Given the description of an element on the screen output the (x, y) to click on. 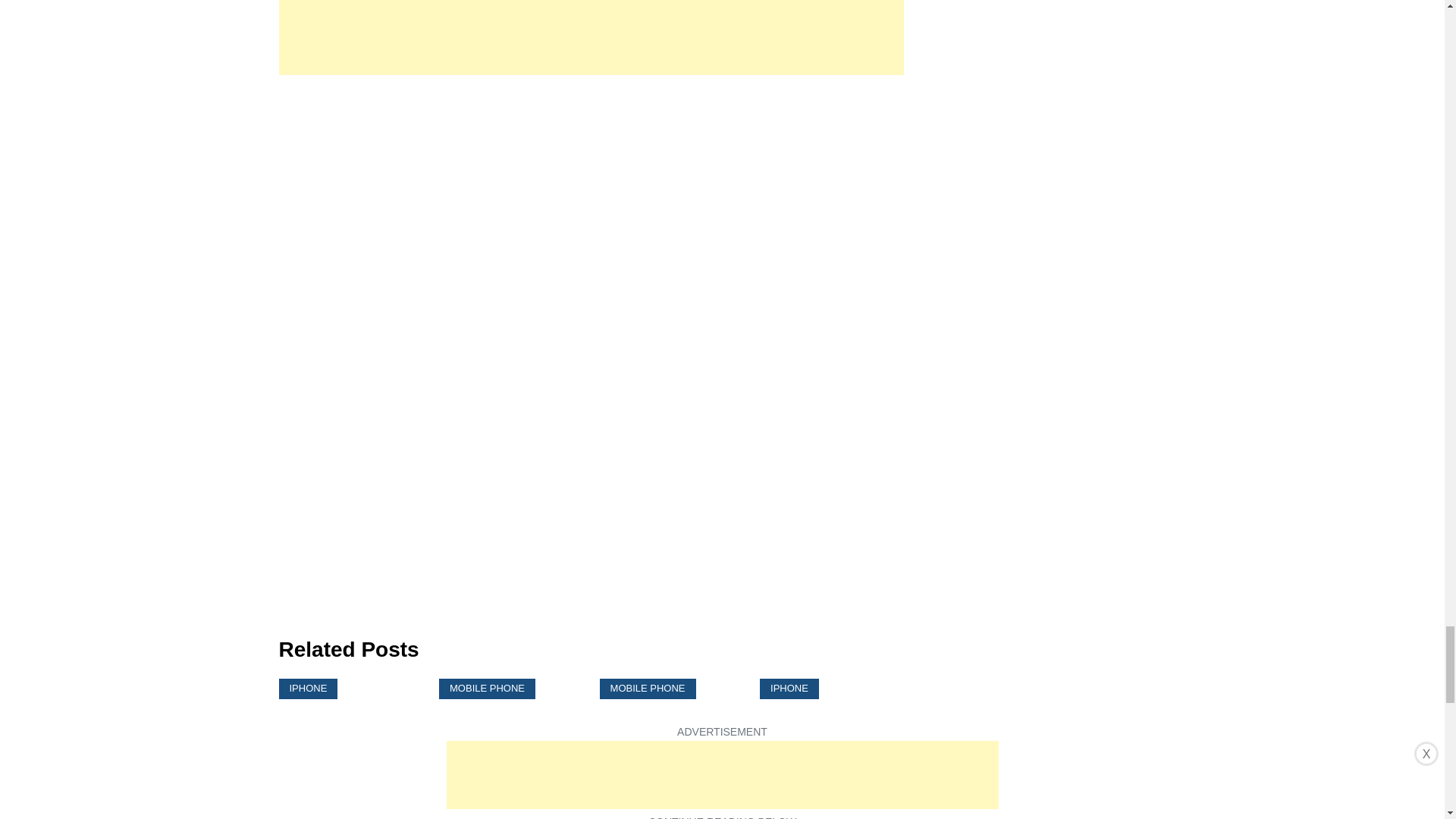
Share on Pinterest (381, 605)
Share on Instagram (351, 605)
Share on facebook (291, 605)
Share on twitter (321, 605)
